Given the description of an element on the screen output the (x, y) to click on. 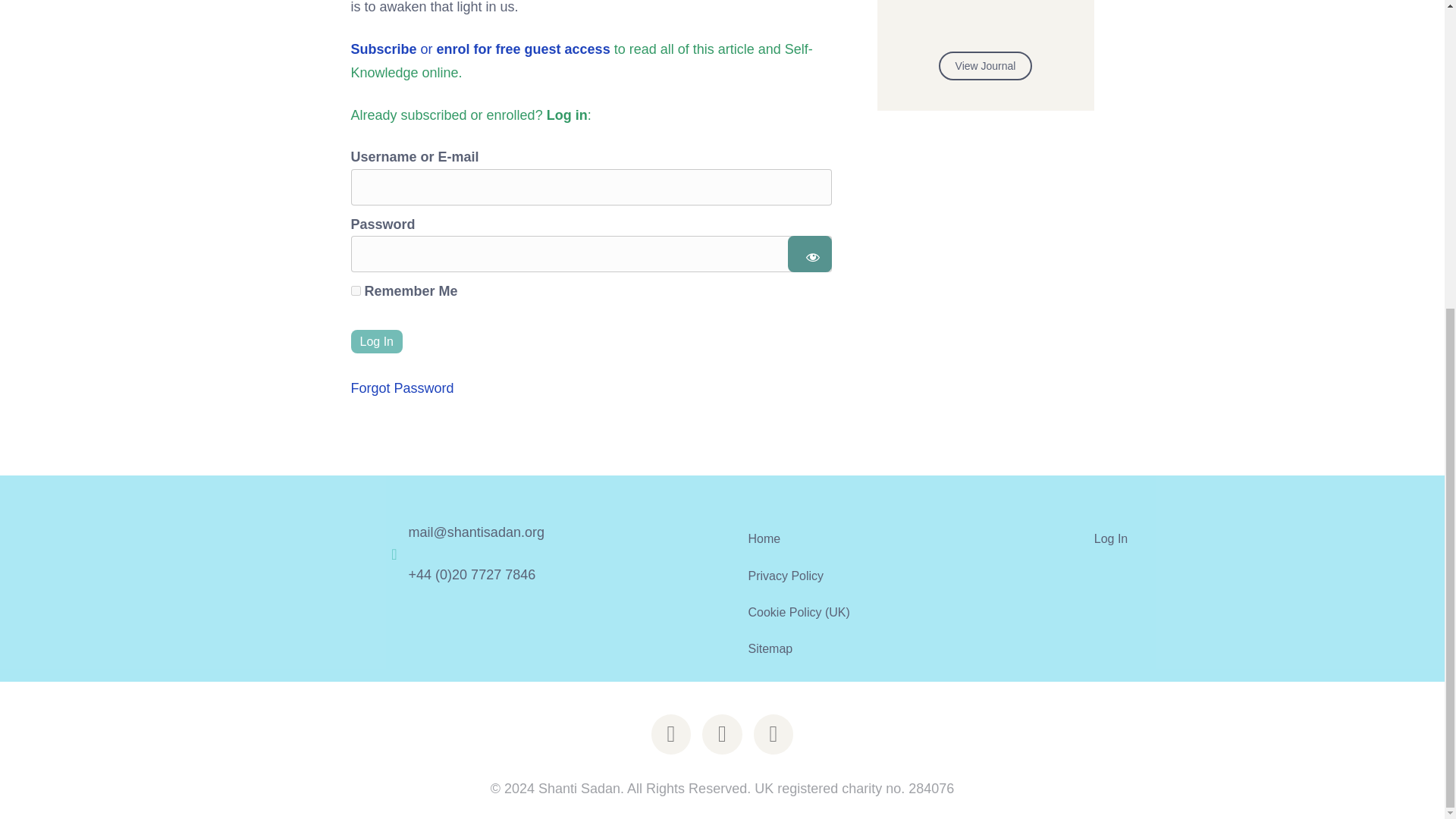
Subscribe or enrol for free guest access (480, 48)
Log In (375, 341)
View Journal (985, 65)
forever (354, 290)
Privacy Policy (894, 575)
Home (894, 538)
Log In (375, 341)
Forgot Password (401, 387)
Sitemap (894, 648)
